Given the description of an element on the screen output the (x, y) to click on. 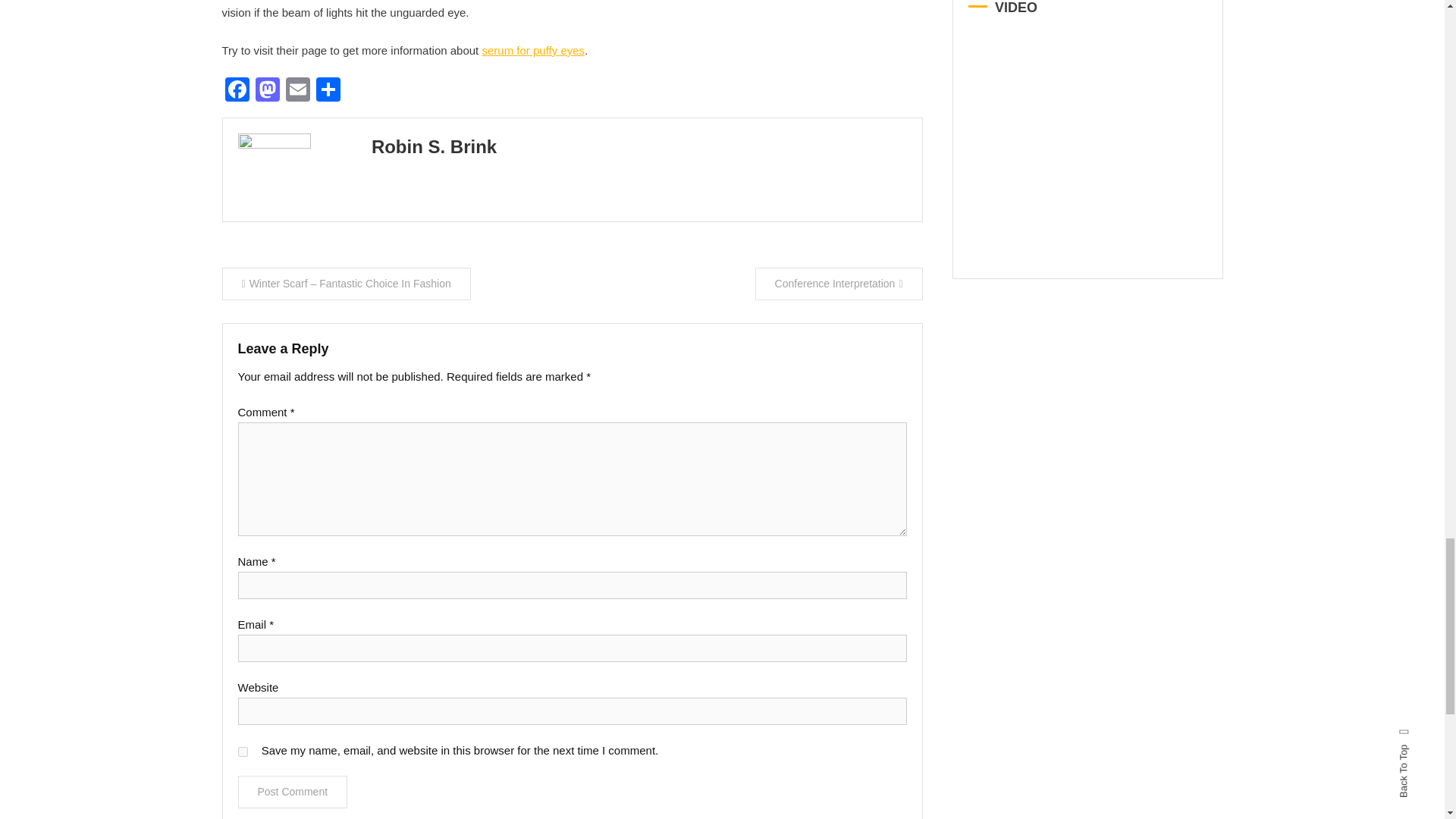
Email (297, 90)
Facebook (236, 90)
Email (297, 90)
Facebook (236, 90)
Conference Interpretation (839, 283)
Posts by Robin S. Brink (433, 146)
serum for puffy eyes (533, 50)
Robin S. Brink (433, 146)
Post Comment (292, 791)
Mastodon (266, 90)
yes (242, 751)
Mastodon (266, 90)
Post Comment (292, 791)
